Given the description of an element on the screen output the (x, y) to click on. 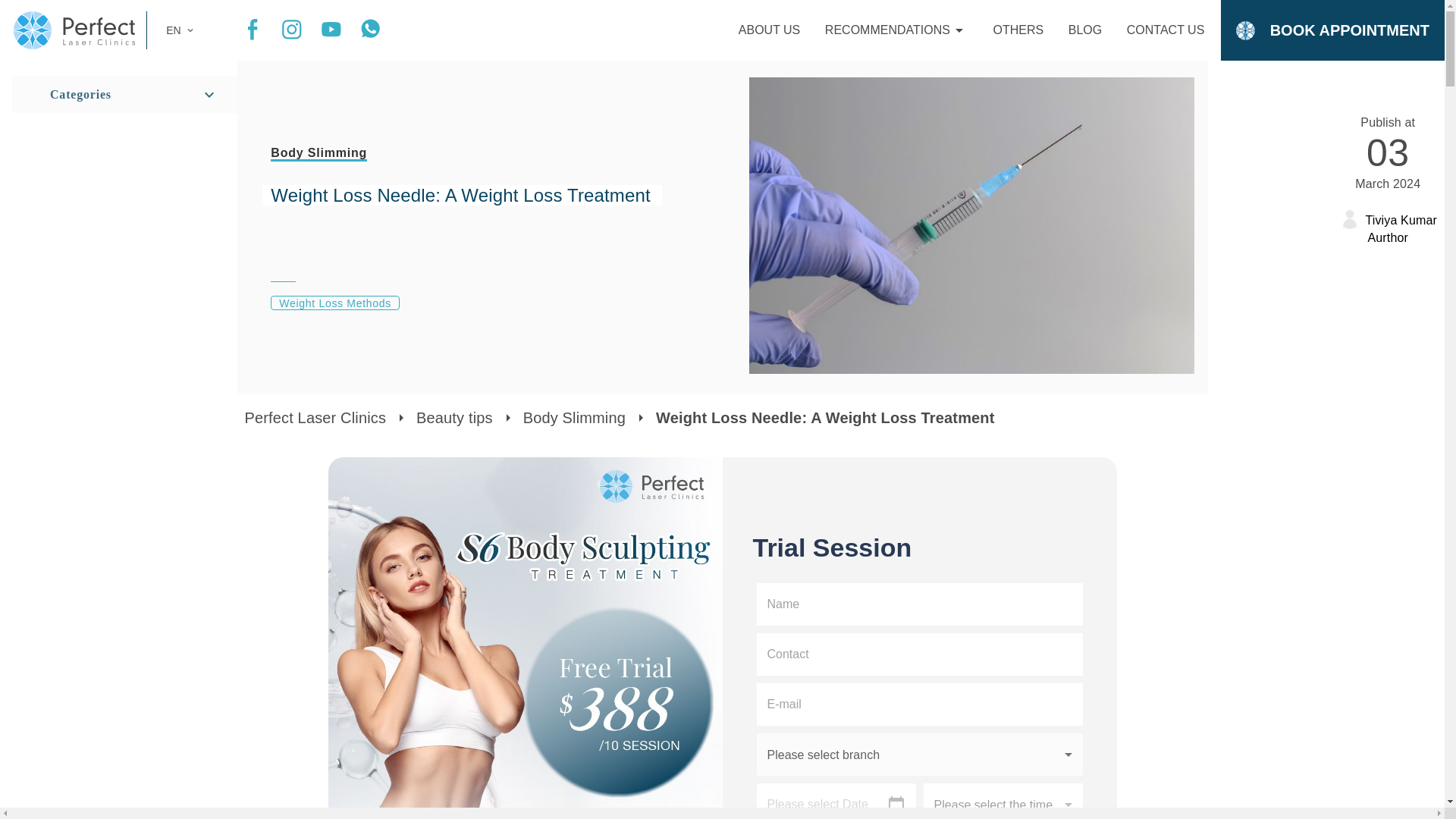
BLOG (1085, 30)
ABOUT US (1387, 219)
OTHERS (769, 30)
CONTACT US (1017, 30)
RECOMMENDATIONS (1165, 30)
